Given the description of an element on the screen output the (x, y) to click on. 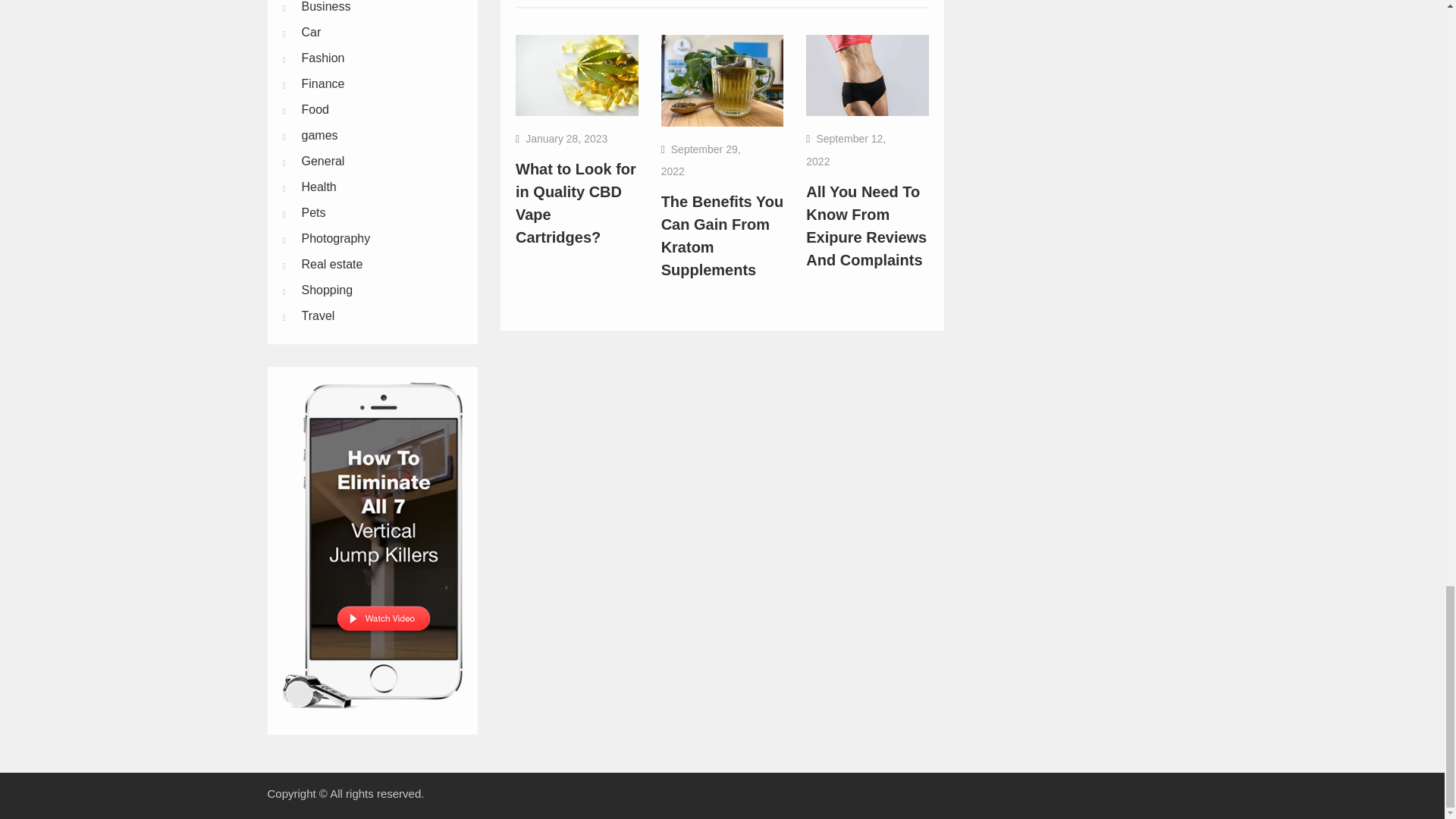
The Benefits You Can Gain From Kratom Supplements (722, 235)
All You Need To Know From Exipure Reviews And Complaints (866, 225)
What to Look for in Quality CBD Vape Cartridges? (575, 202)
